Given the description of an element on the screen output the (x, y) to click on. 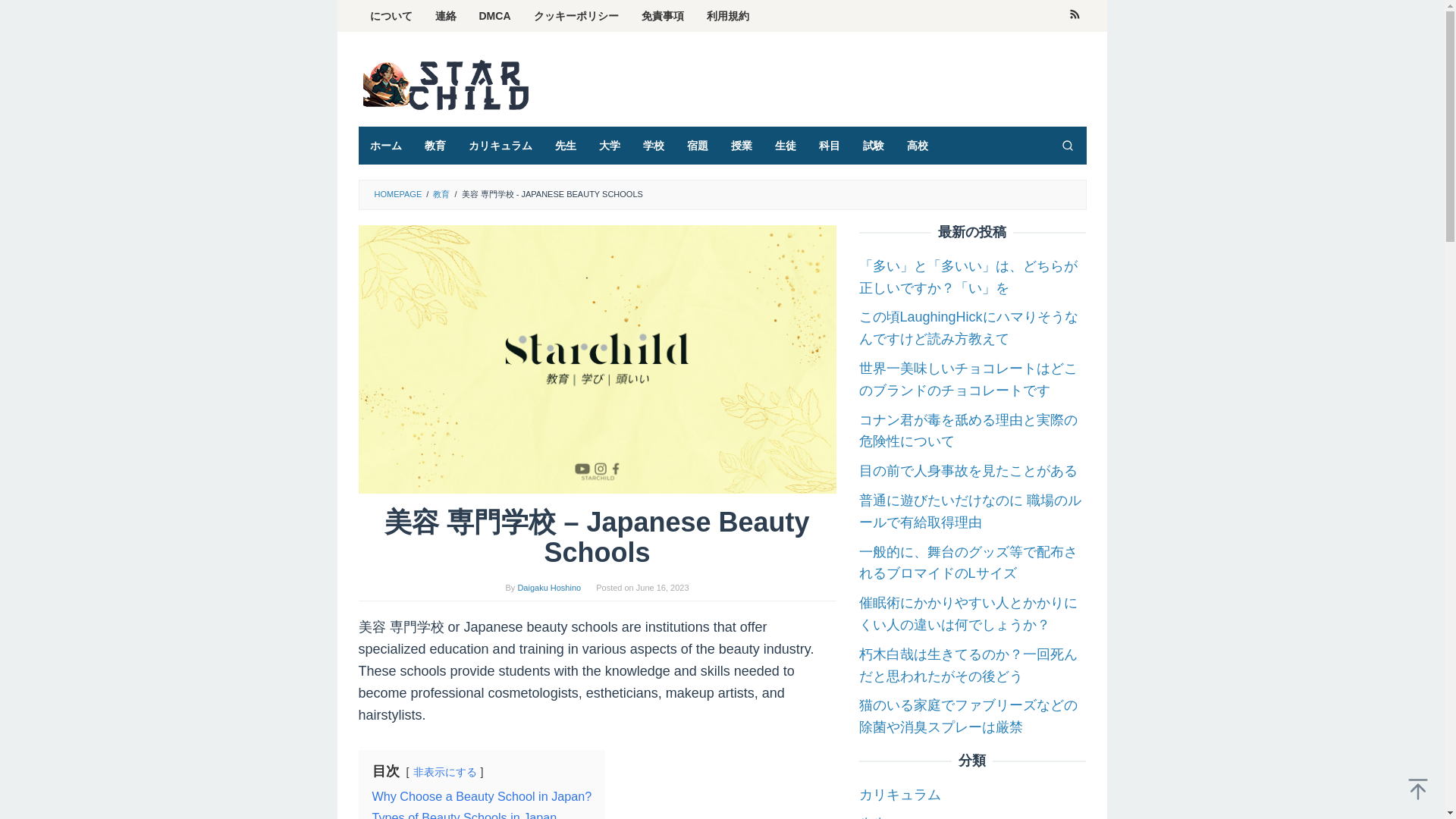
HOMEPAGE (398, 194)
Permalink to: Daigaku Hoshino (548, 587)
Why Choose a Beauty School in Japan? (481, 796)
RSS (1074, 15)
Starchild.fm (445, 83)
Types of Beauty Schools in Japan (463, 814)
Starchild.fm (445, 84)
Daigaku Hoshino (548, 587)
DMCA (494, 15)
Search (1067, 145)
